Given the description of an element on the screen output the (x, y) to click on. 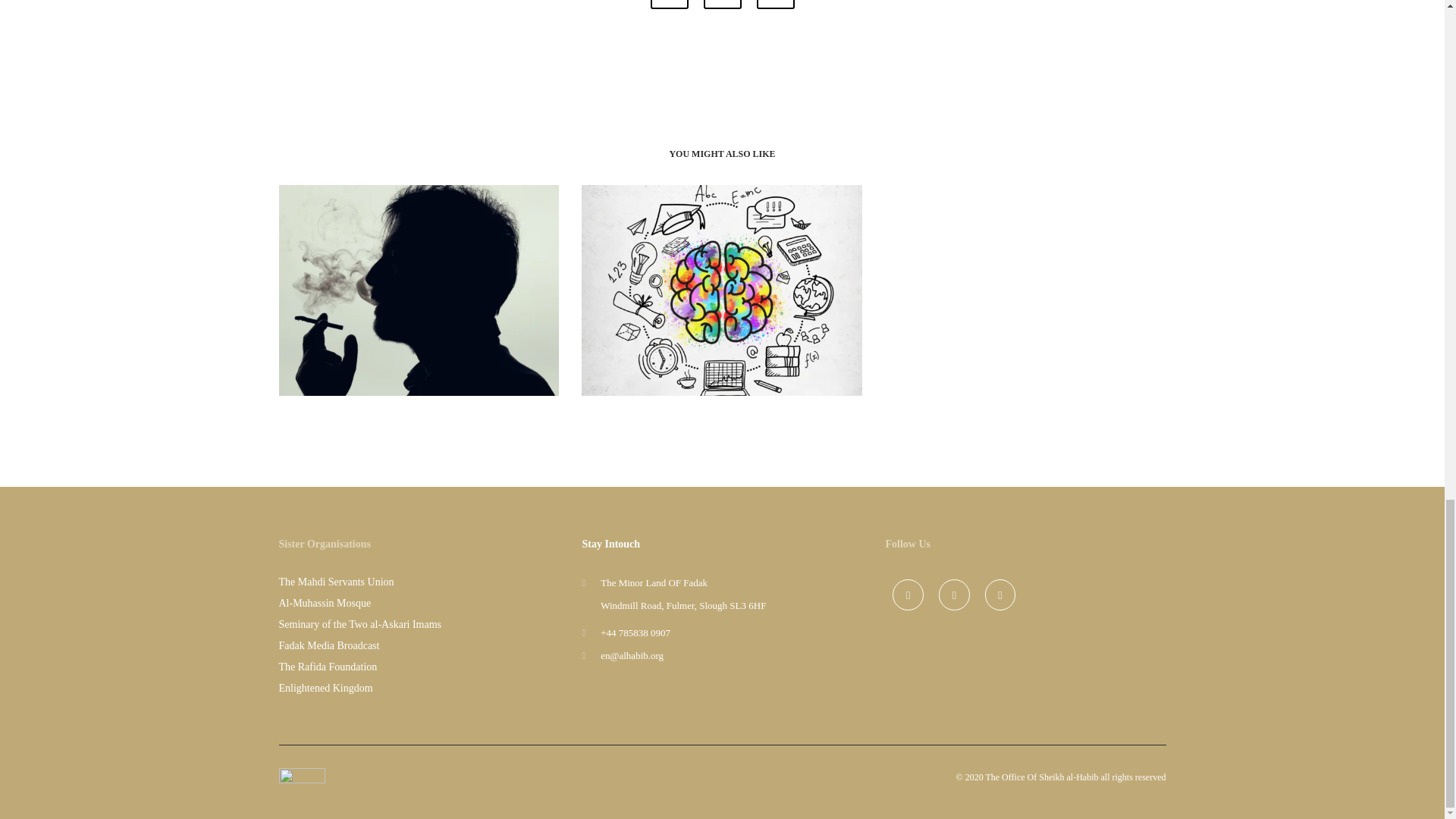
Fadak Media Broadcast (329, 645)
The Rafida Foundation (328, 666)
Enlightened Kingdom (325, 687)
Ruling on steroid usage (722, 4)
Ruling on steroid usage (669, 4)
The Mahdi Servants Union (336, 582)
Ruling on steroid usage (775, 4)
Al-Muhassin Mosque (325, 603)
Stay Intouch (610, 543)
